Given the description of an element on the screen output the (x, y) to click on. 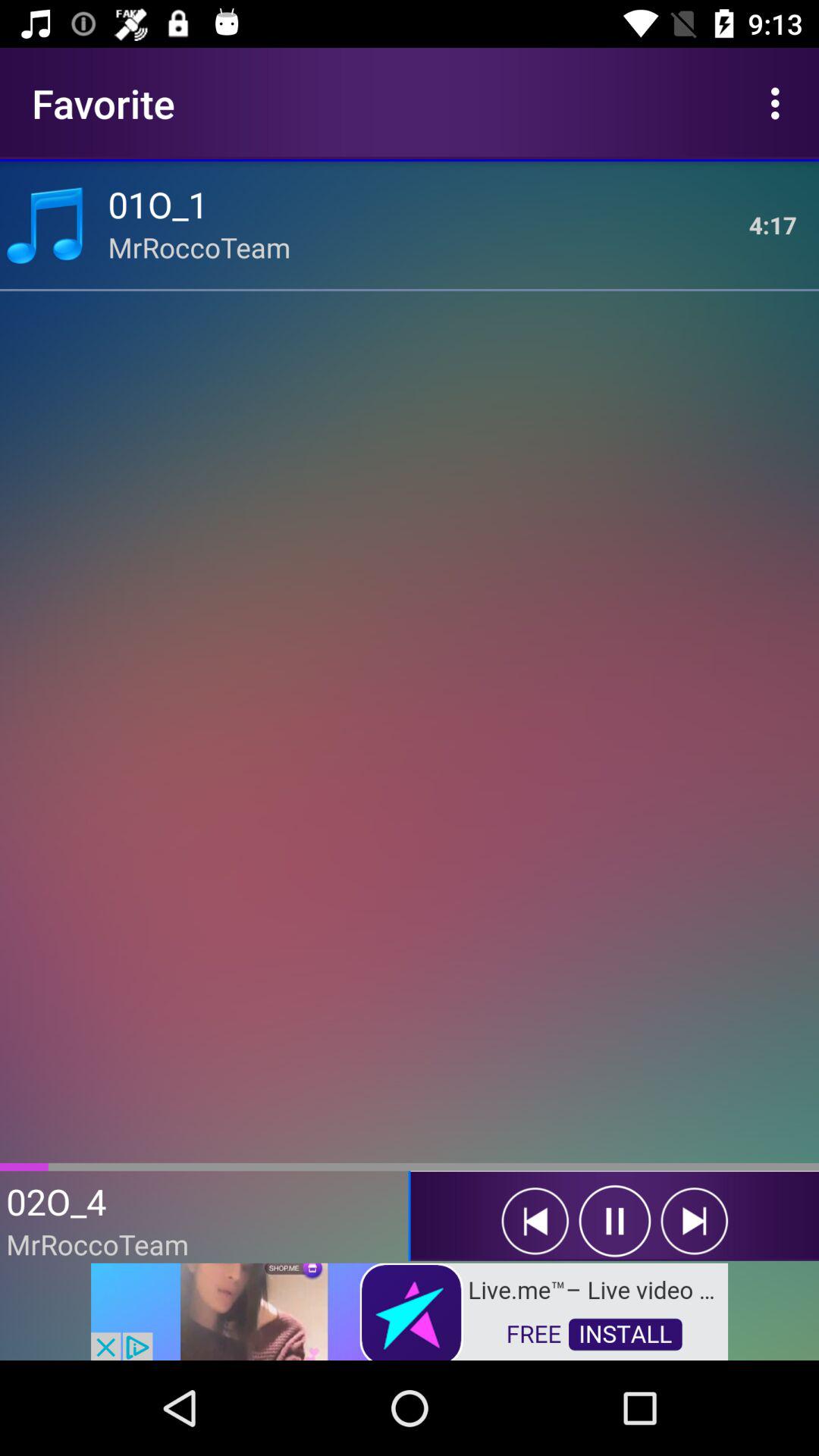
click on pause button (614, 1220)
